Given the description of an element on the screen output the (x, y) to click on. 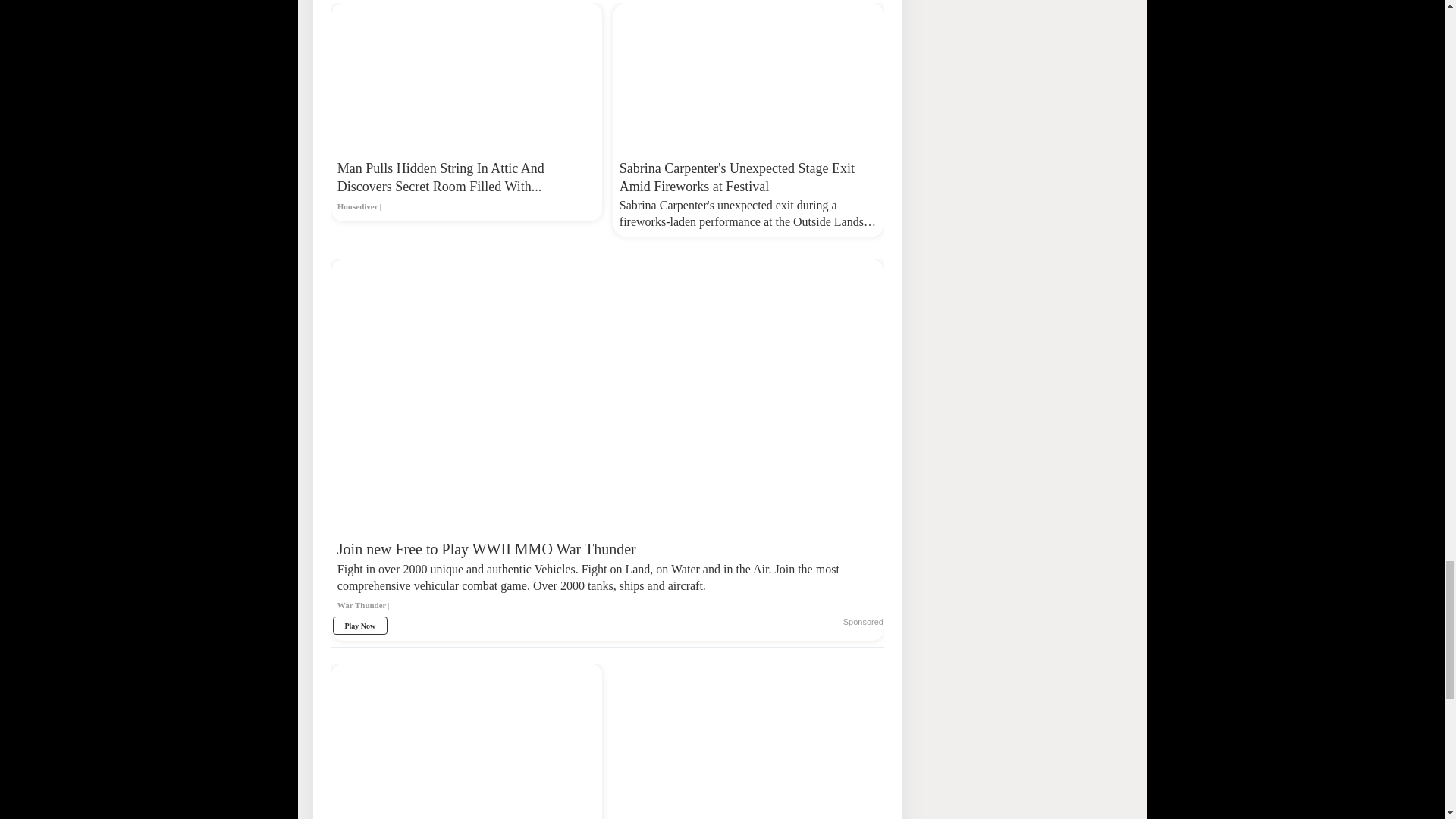
Sponsored (863, 622)
Play Now (360, 625)
